Given the description of an element on the screen output the (x, y) to click on. 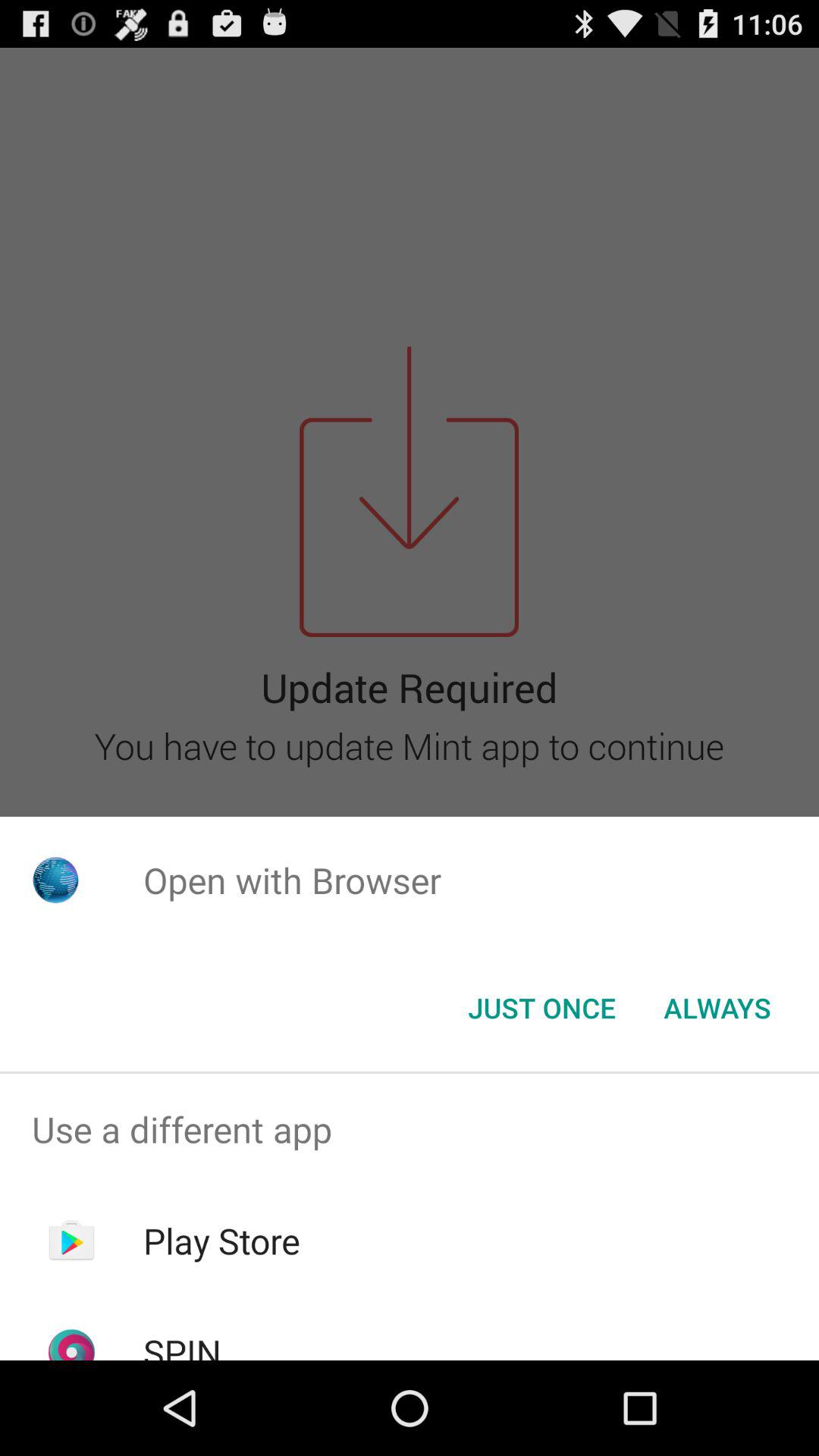
jump until the just once item (541, 1007)
